Given the description of an element on the screen output the (x, y) to click on. 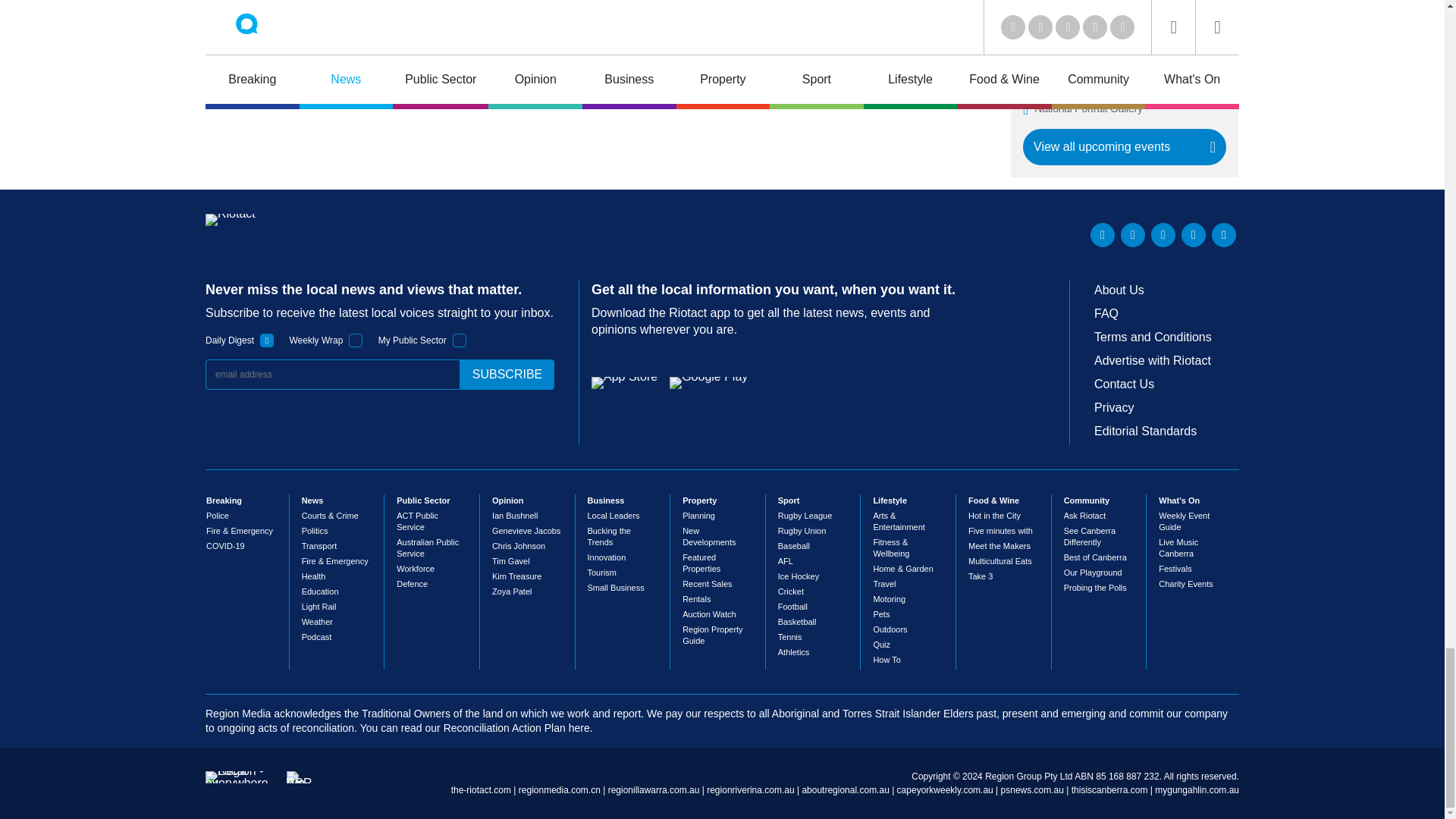
1 (266, 340)
App Store (624, 382)
subscribe (507, 374)
1 (458, 340)
Youtube (1162, 234)
Facebook (1192, 234)
LinkedIn (1102, 234)
1 (355, 340)
Instagram (1223, 234)
Twitter (1132, 234)
